Given the description of an element on the screen output the (x, y) to click on. 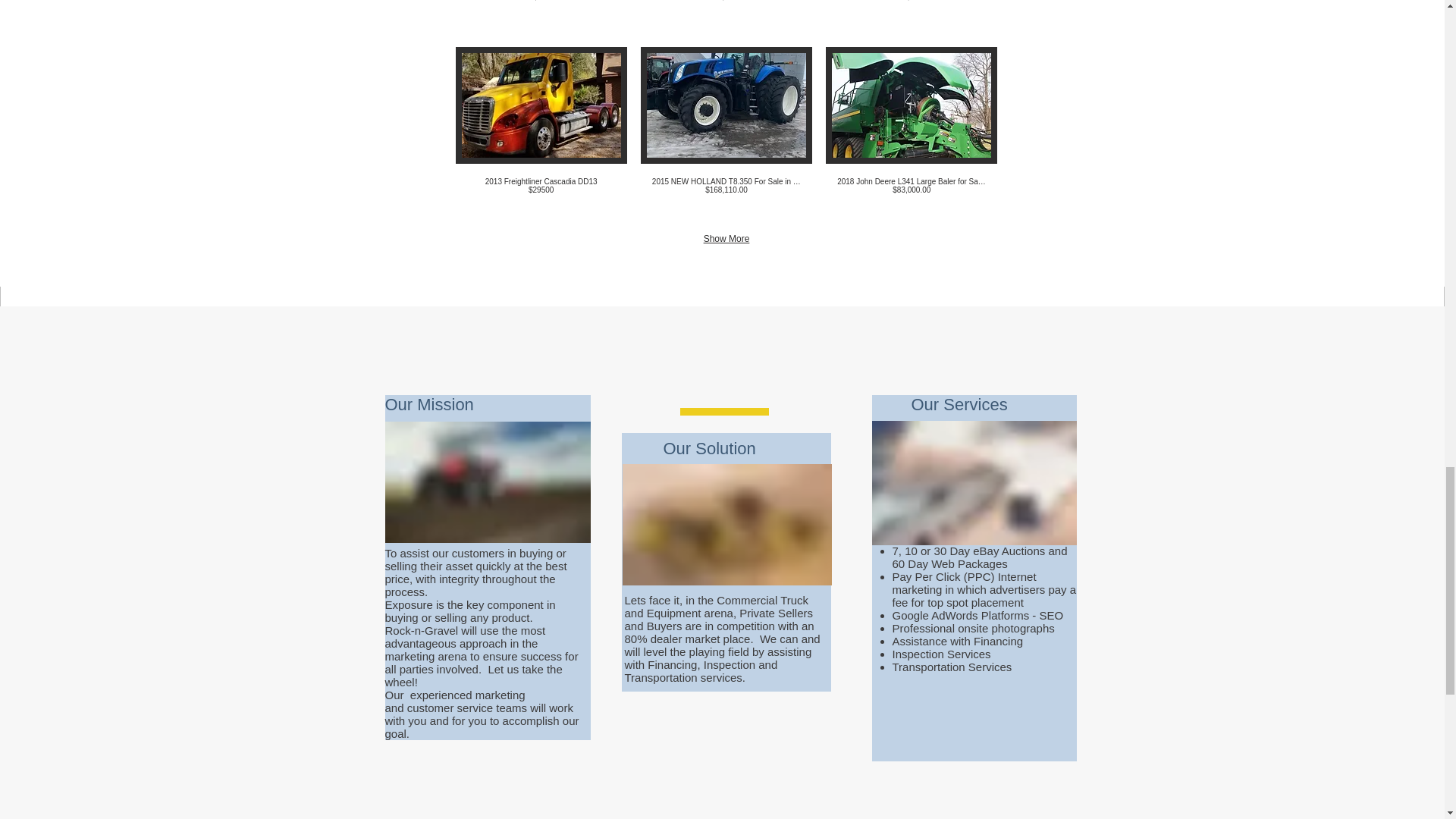
Show More (725, 238)
